Given the description of an element on the screen output the (x, y) to click on. 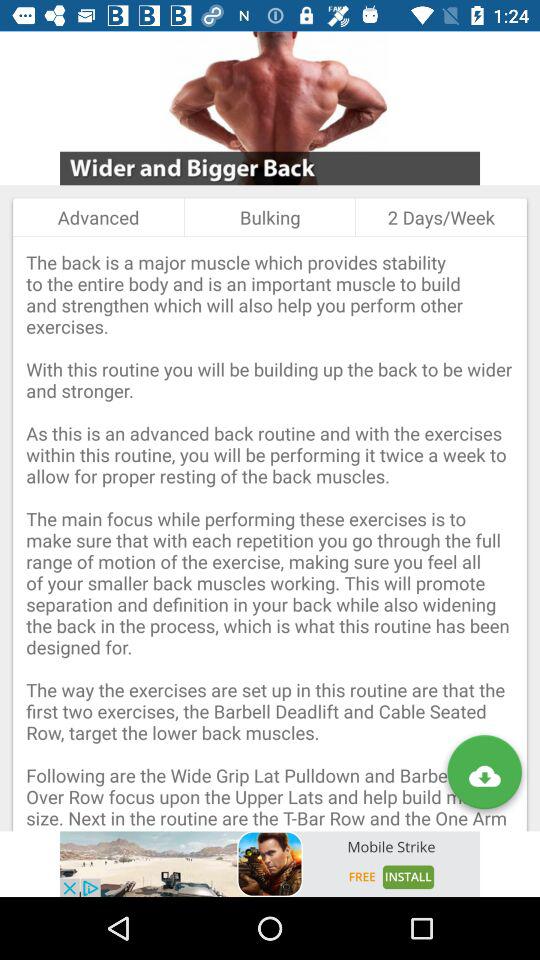
download the app (484, 775)
